Given the description of an element on the screen output the (x, y) to click on. 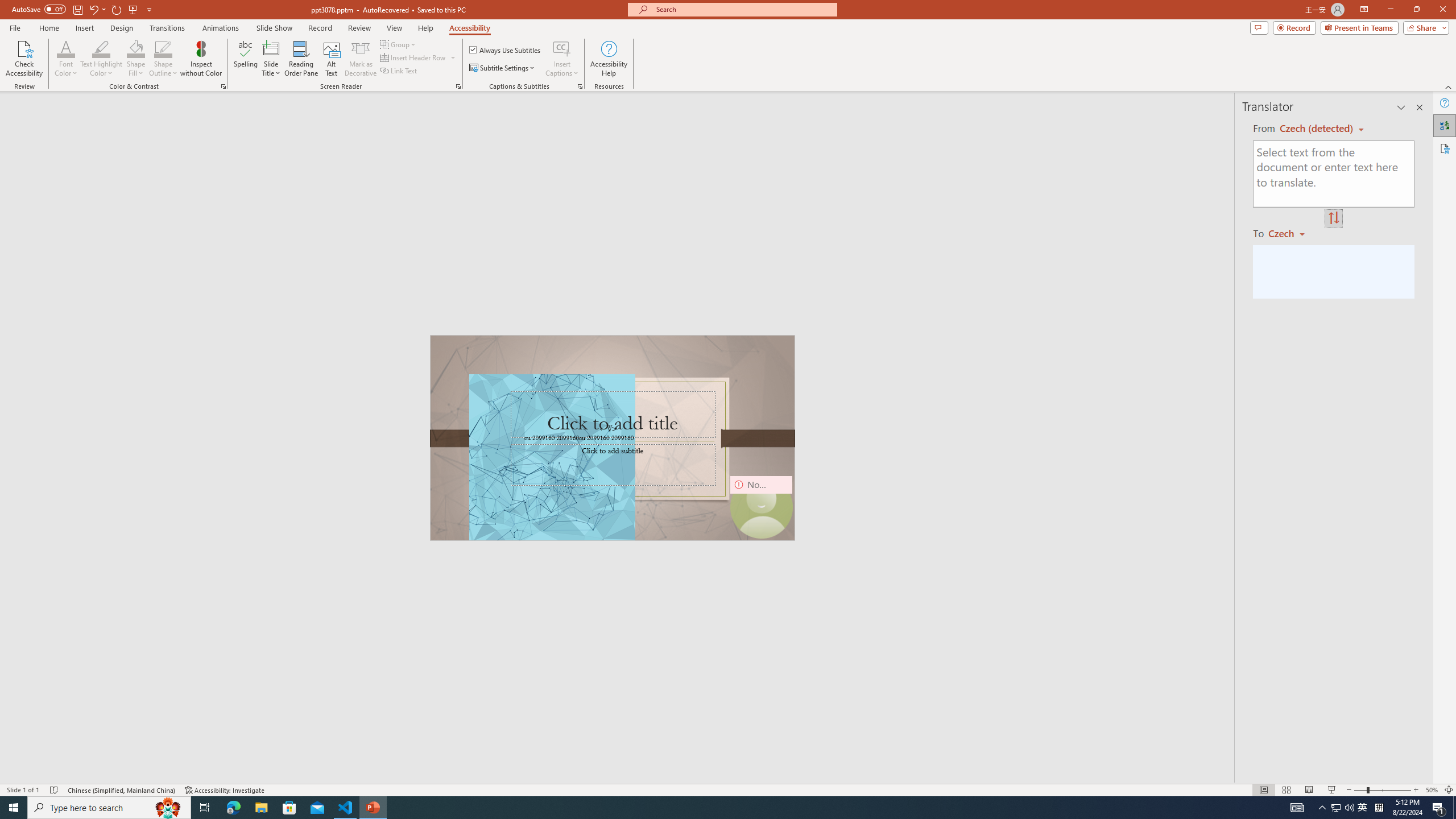
Captions & Subtitles (580, 85)
Always Use Subtitles (505, 49)
